Given the description of an element on the screen output the (x, y) to click on. 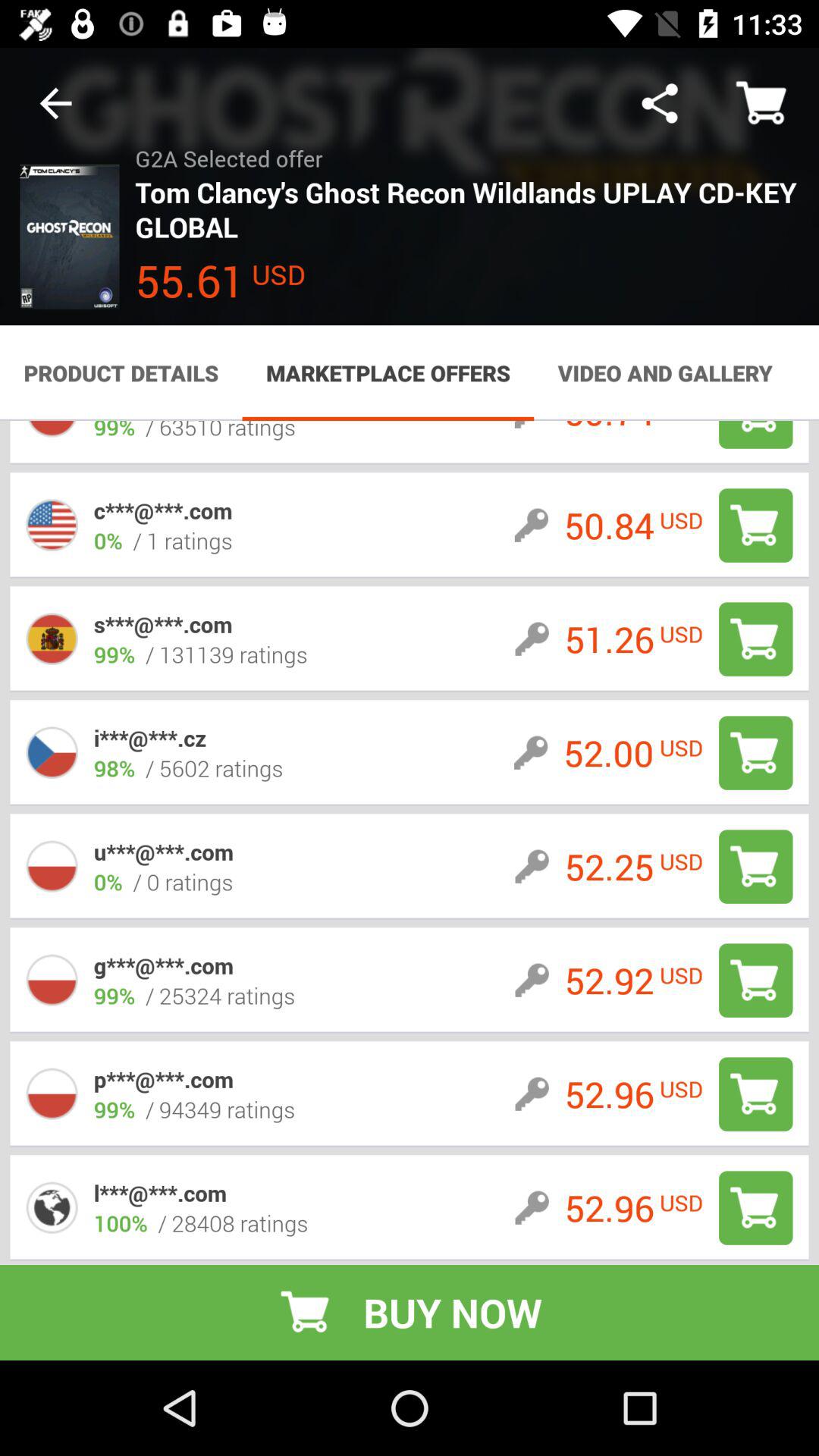
go to shopping (755, 639)
